Given the description of an element on the screen output the (x, y) to click on. 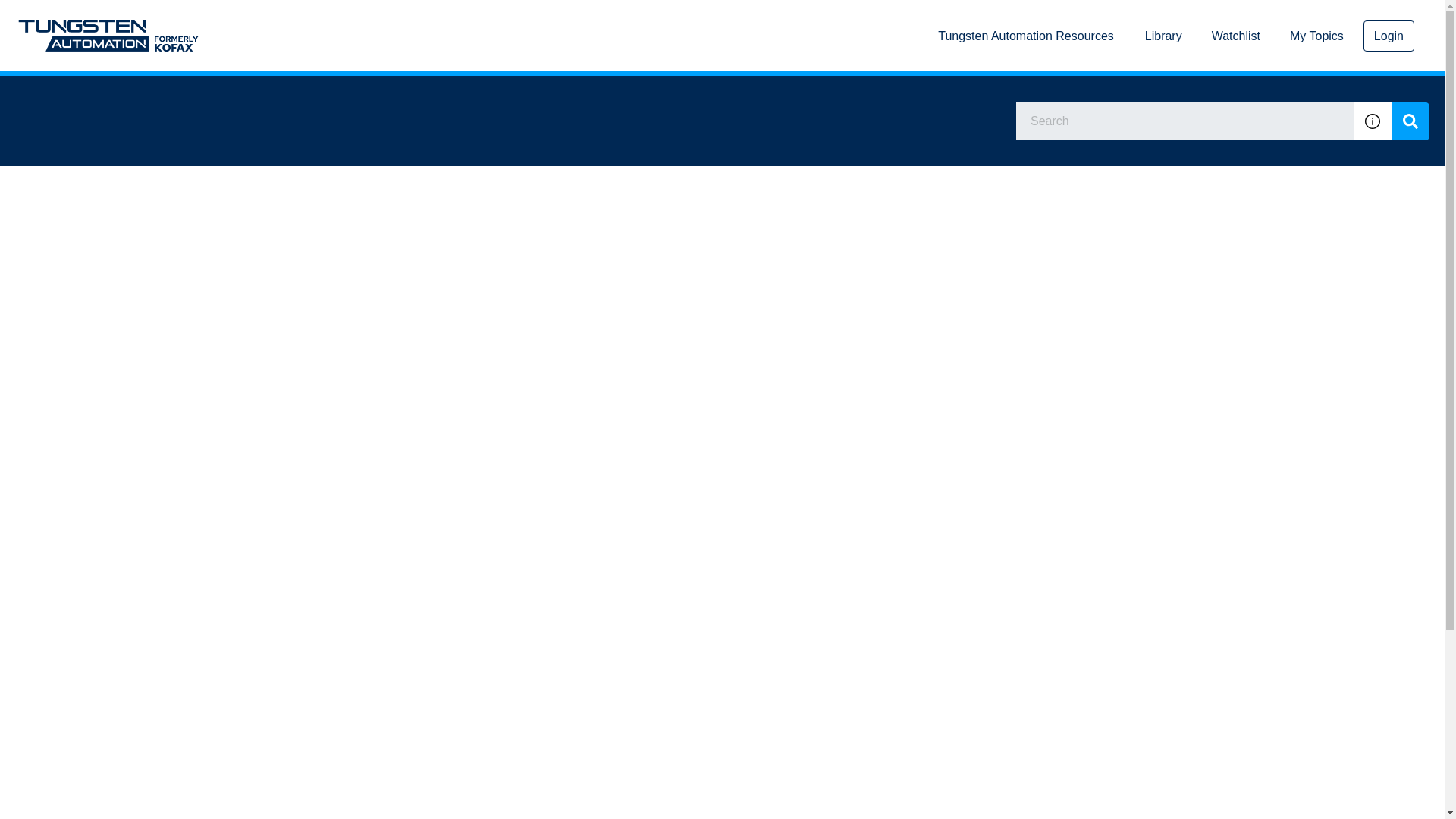
Tungsten Automation Resources (1025, 35)
Watchlist (1235, 35)
My Topics (1316, 35)
Login (1387, 34)
Library (1163, 35)
